Given the description of an element on the screen output the (x, y) to click on. 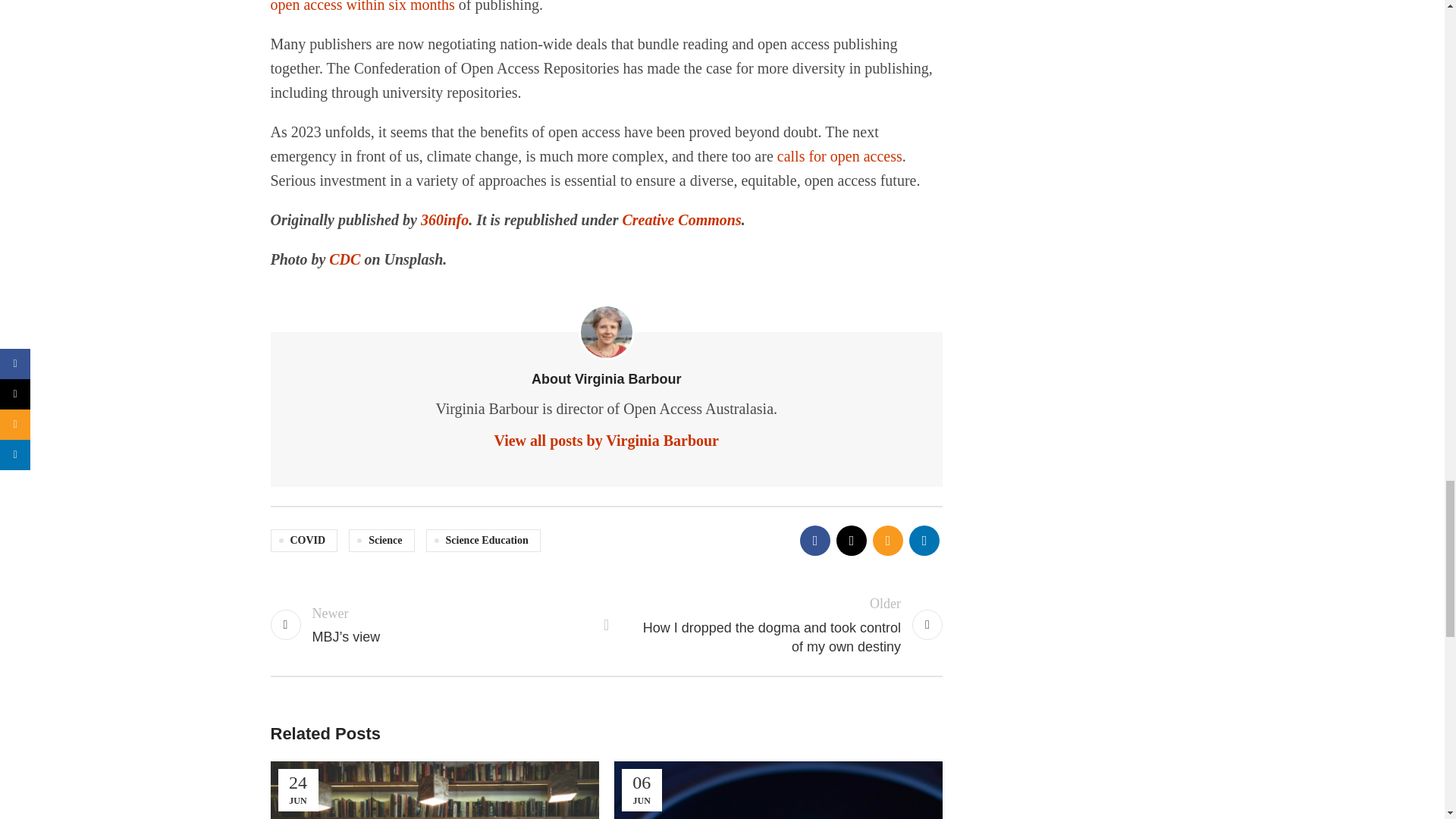
calls for open access (839, 156)
open access within six months (361, 6)
